Given the description of an element on the screen output the (x, y) to click on. 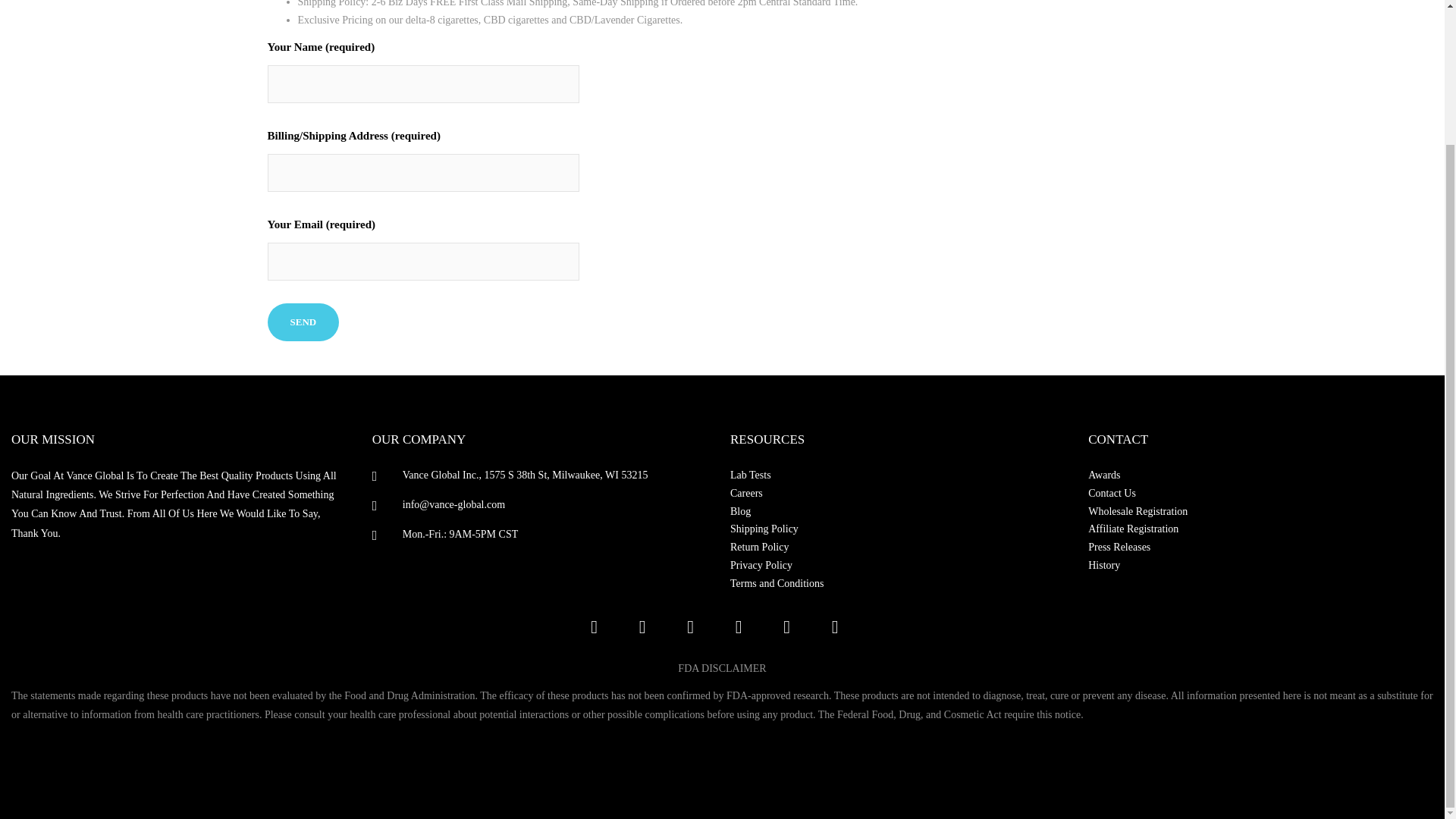
Return Policy (899, 547)
Affiliate Registration (1256, 529)
Blog (899, 511)
Privacy Policy (899, 565)
Careers (899, 493)
Terms and Conditions (899, 583)
Shipping Policy (899, 529)
Send (302, 322)
History (1256, 565)
Press Releases (1256, 547)
Wholesale Registration (1256, 511)
Awards (1256, 475)
Contact Us (1256, 493)
Send (302, 322)
Lab Tests (899, 475)
